Given the description of an element on the screen output the (x, y) to click on. 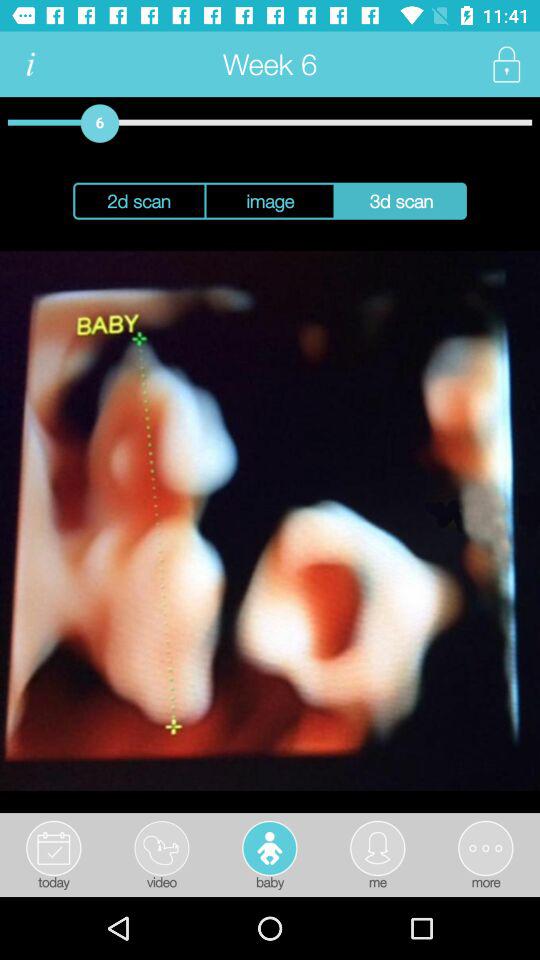
press the button next to image button (400, 200)
